Given the description of an element on the screen output the (x, y) to click on. 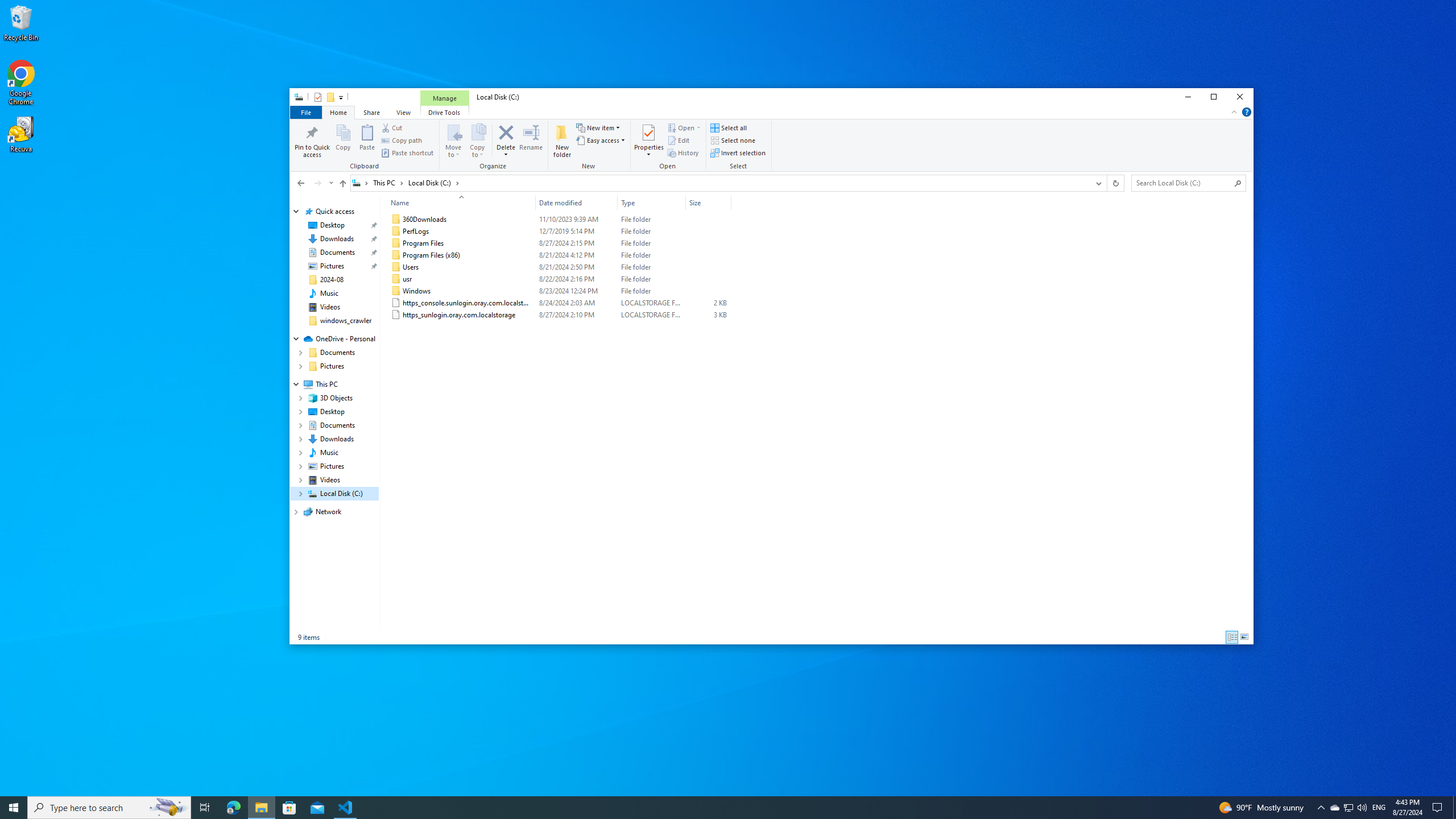
Properties (317, 96)
Up to "This PC" (Alt + Up Arrow) (342, 183)
Program Files (558, 243)
2024-08 (331, 279)
Start (13, 807)
Microsoft Edge (233, 807)
Up band toolbar (342, 184)
Navigation buttons (314, 182)
Help (1246, 111)
Share (371, 111)
Invert selection (738, 152)
Search highlights icon opens search home window (167, 807)
Close (1240, 96)
Size (707, 314)
